Given the description of an element on the screen output the (x, y) to click on. 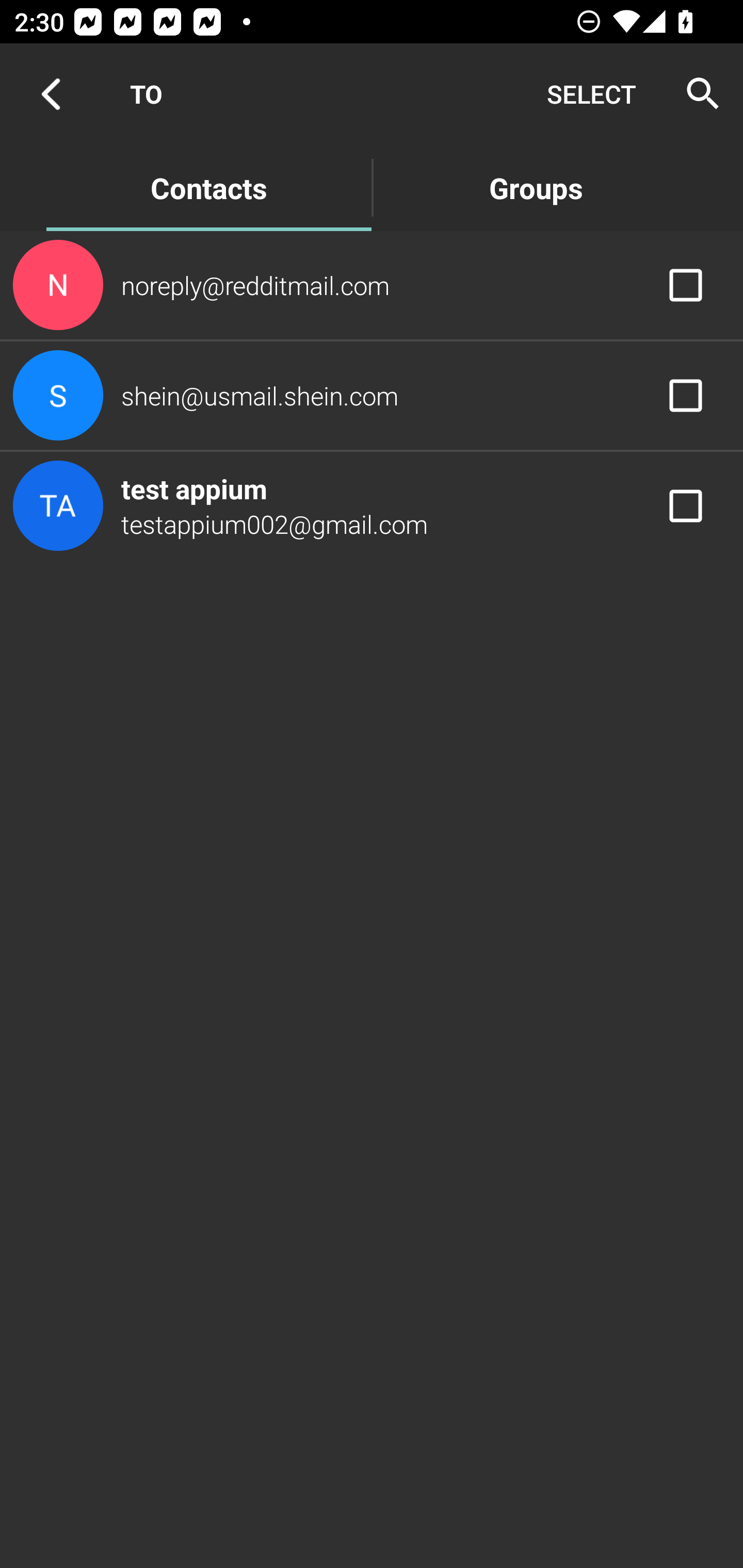
Navigate up (50, 93)
SELECT (590, 93)
Search (696, 93)
Contacts (208, 187)
Groups (535, 187)
noreply@redditmail.com (371, 284)
shein@usmail.shein.com (371, 395)
test appium testappium002@gmail.com (371, 505)
